Given the description of an element on the screen output the (x, y) to click on. 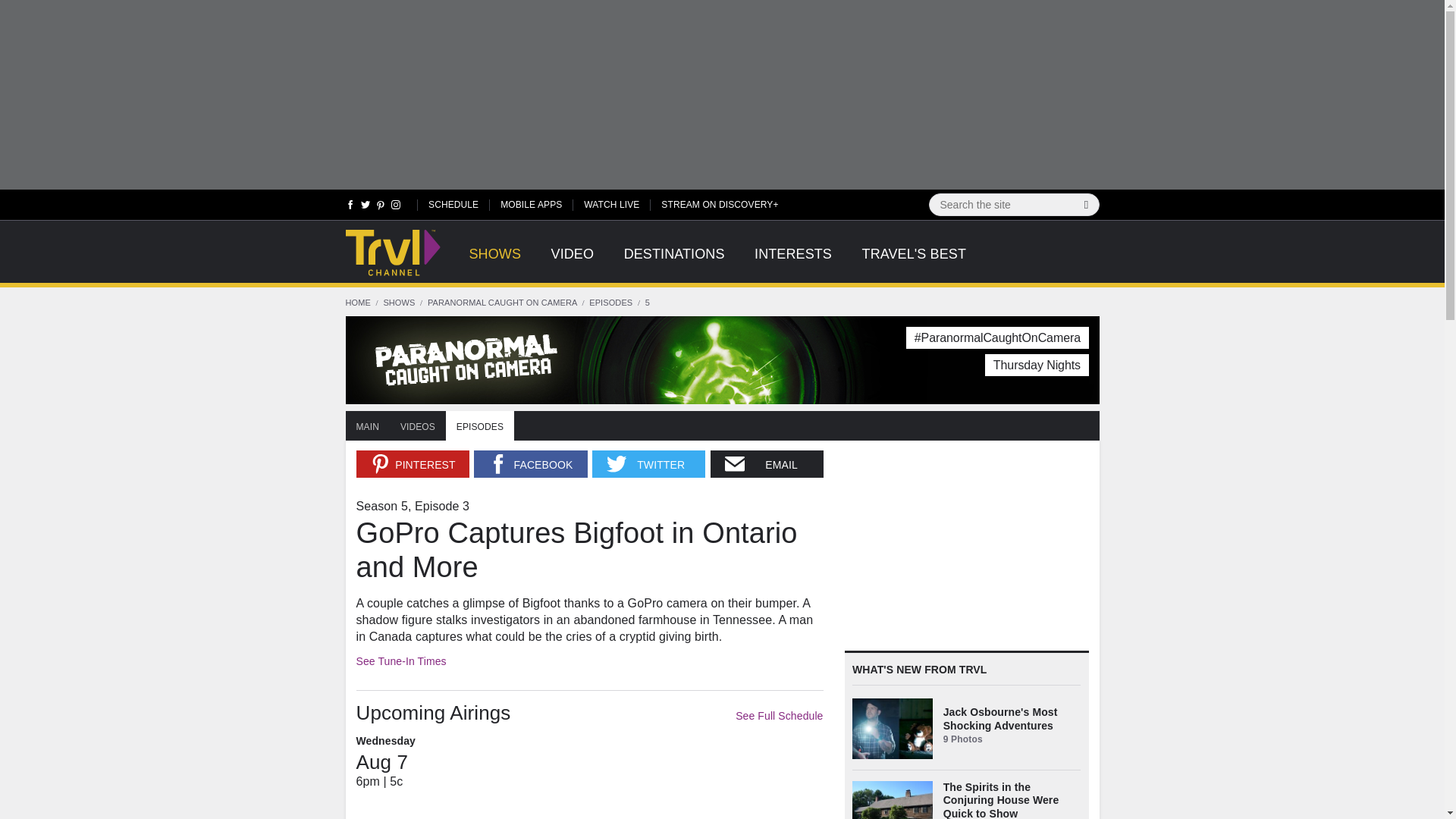
SCHEDULE (453, 204)
Share on Facebook (530, 463)
MOBILE APPS (531, 204)
Share on Pinterest (412, 463)
SHOWS (494, 261)
Share by Email (767, 463)
Share on Twitter (648, 463)
3rd party ad content (957, 544)
Follow us on Pinterest (380, 207)
Follow us on Twitter (365, 207)
Follow us on Instagram (394, 207)
Follow us on Facebook (350, 207)
WATCH LIVE (611, 204)
